Given the description of an element on the screen output the (x, y) to click on. 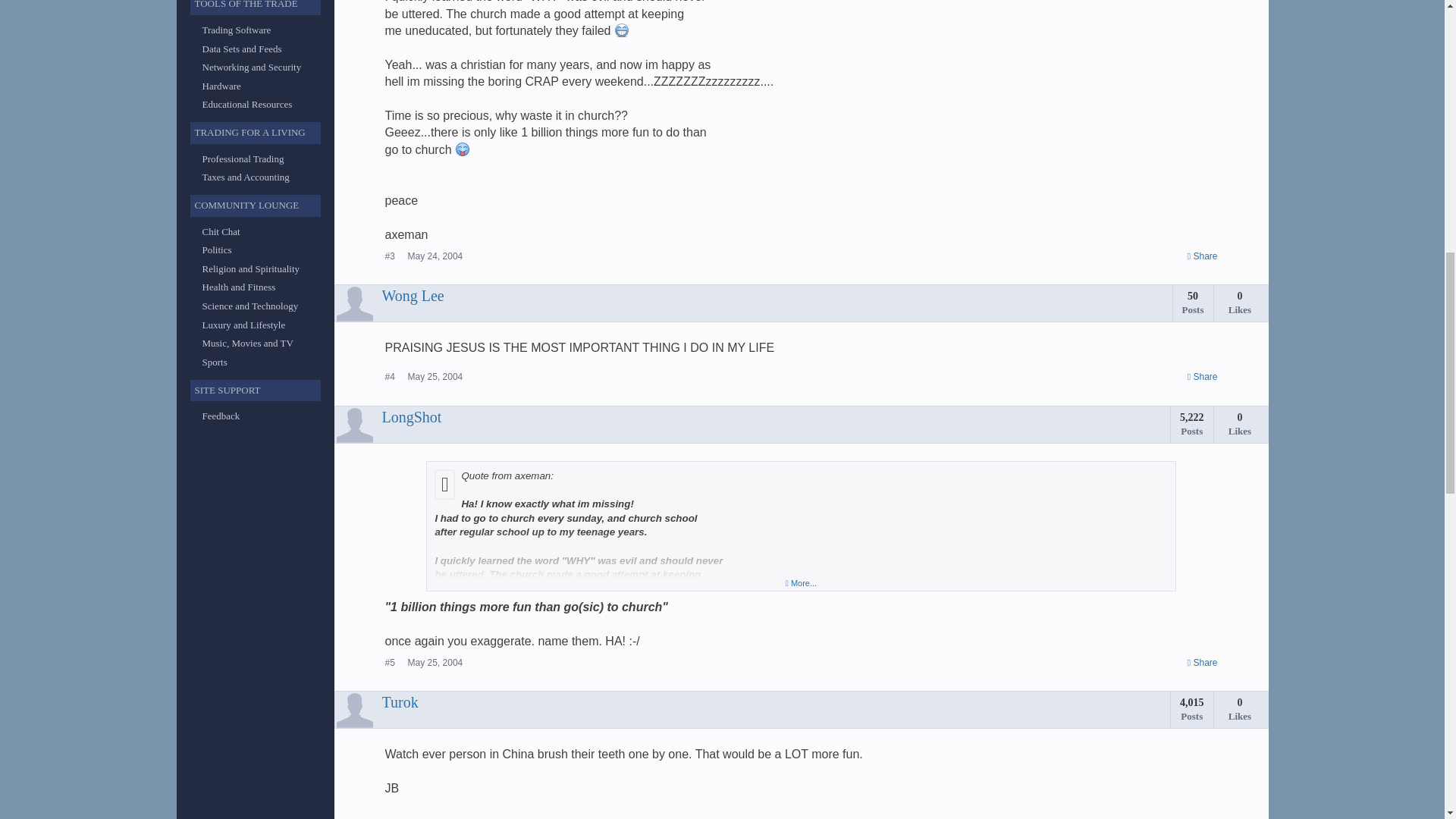
Big Grin    :D (648, 589)
Big Grin    :D (621, 29)
Permalink (1202, 256)
Permalink (1202, 377)
Permalink (435, 376)
Permalink (435, 255)
Permalink (435, 662)
Networking and Security (251, 66)
Chit Chat (221, 231)
Stick Out Tongue    :p (461, 149)
Religion and Spirituality (250, 268)
Politics (216, 249)
Educational Resources (247, 103)
Data Sets and Feeds (241, 48)
Trading Software (236, 30)
